Given the description of an element on the screen output the (x, y) to click on. 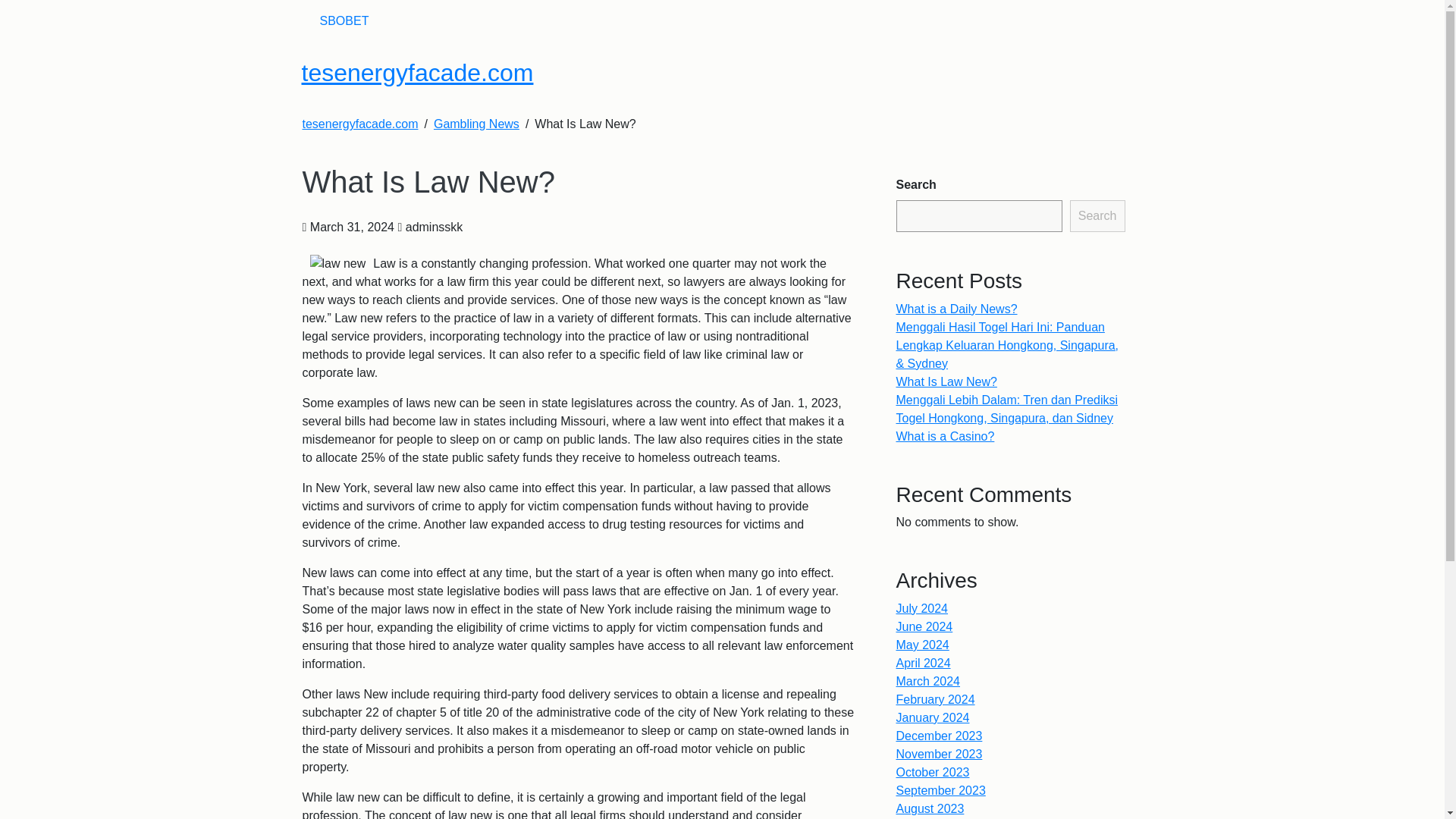
tesenergyfacade.com (359, 123)
How to Make Your Entertainment Writing More Engaging (1005, 445)
March 2024 (928, 753)
May 2024 (922, 717)
February 2024 (935, 771)
Search (1097, 215)
April 2024 (923, 735)
Gambling News (476, 123)
SBOBET (344, 20)
January 2024 (932, 789)
June 2024 (924, 698)
December 2023 (939, 808)
Menangkan Hadiah Besar di Live Draw Togel Macau! (1001, 481)
July 2024 (922, 680)
